Given the description of an element on the screen output the (x, y) to click on. 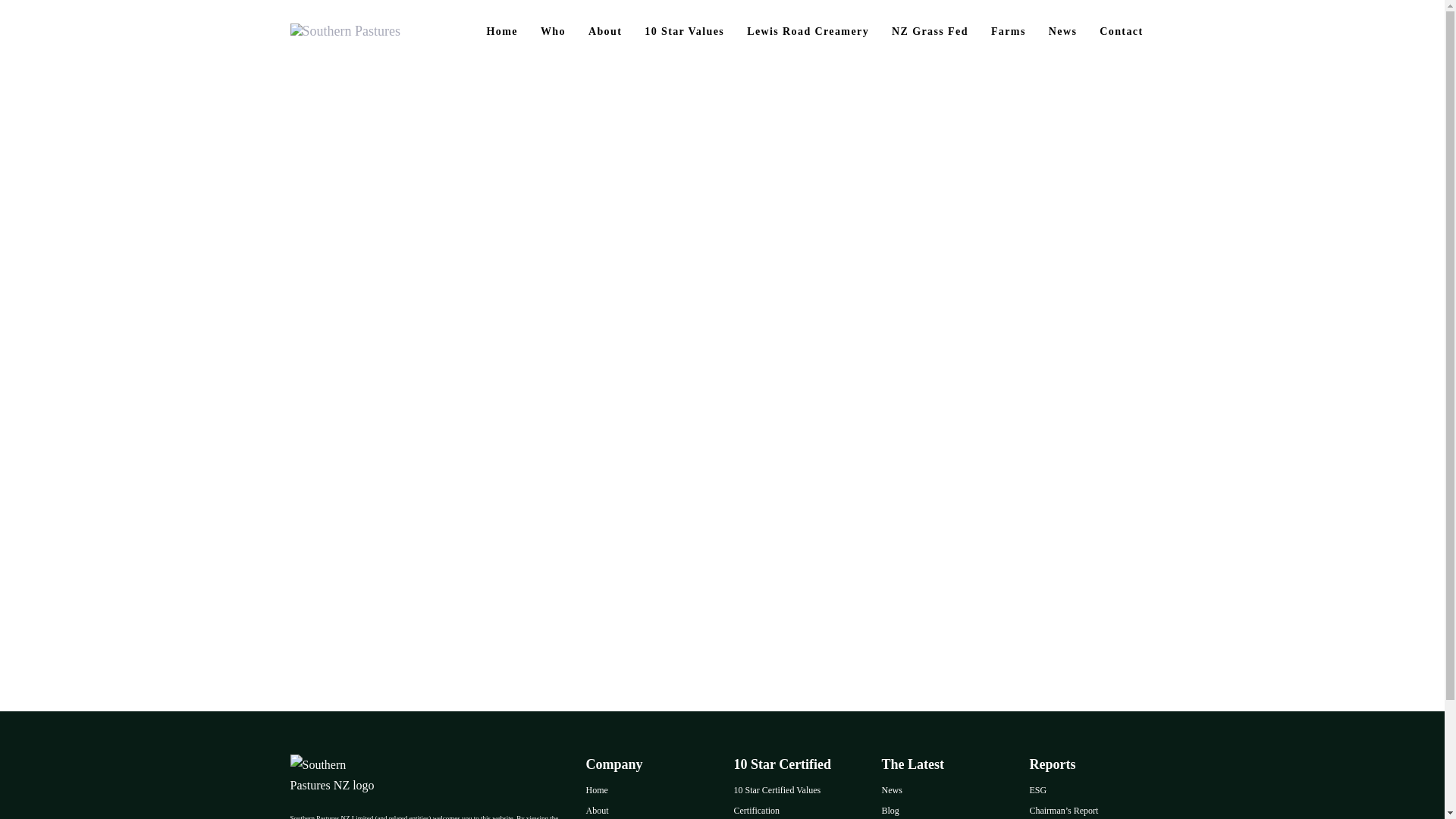
10 Star Certified Values (796, 790)
News (943, 790)
10 Star Values (684, 31)
Home (647, 790)
Farms (1007, 31)
NZ Grass Fed (929, 31)
Certification (796, 809)
About (604, 31)
Southern Pastures NZ (334, 774)
About (647, 809)
